Given the description of an element on the screen output the (x, y) to click on. 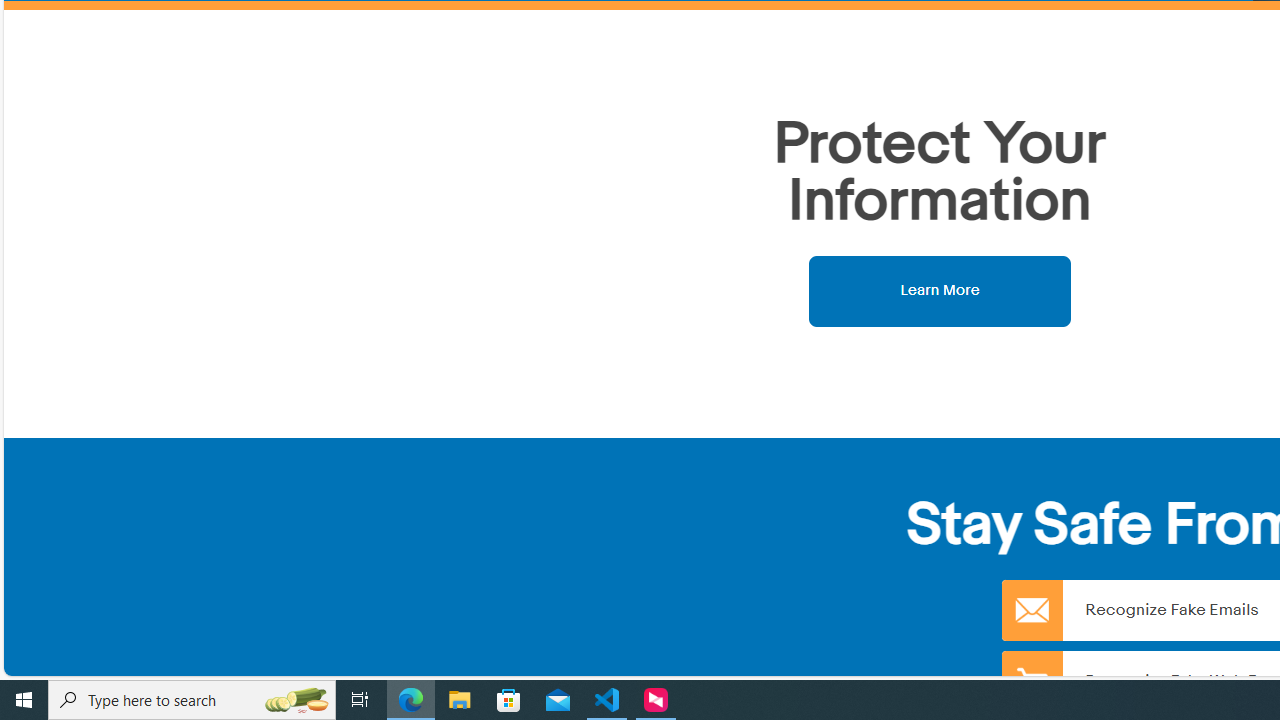
Learn More (939, 290)
